Given the description of an element on the screen output the (x, y) to click on. 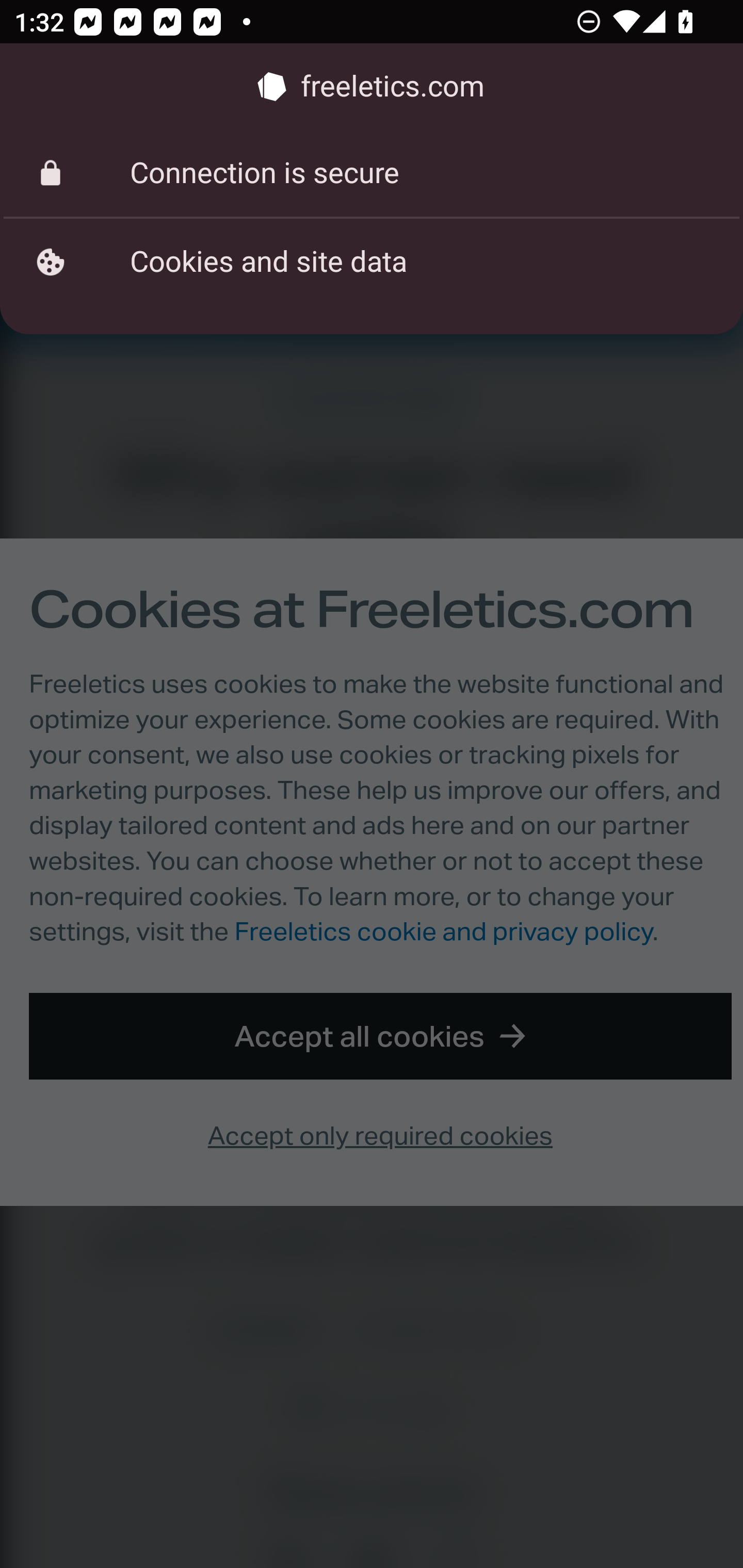
freeletics.com (371, 86)
Connection is secure (371, 173)
Cookies and site data (371, 261)
